Given the description of an element on the screen output the (x, y) to click on. 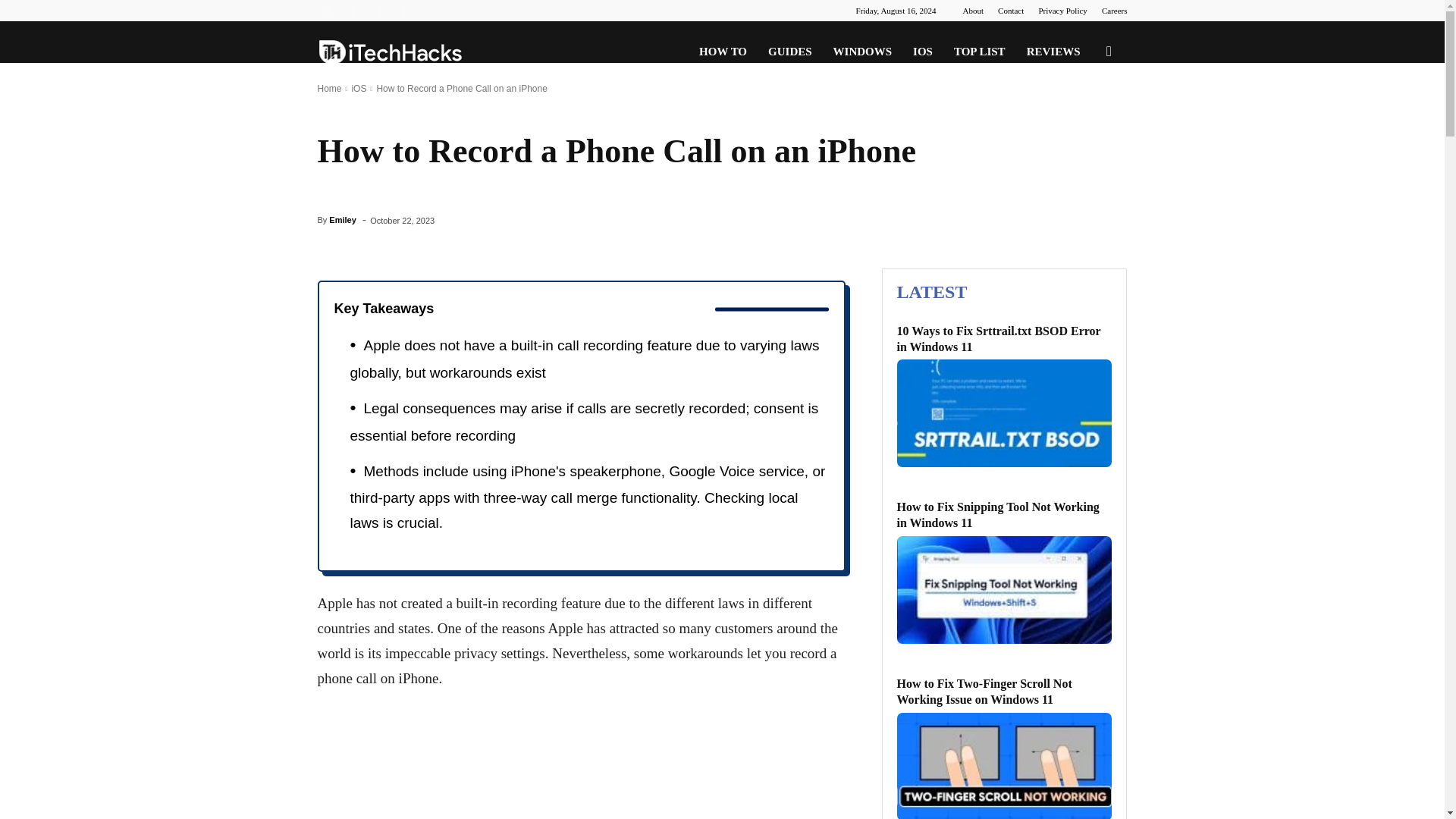
WINDOWS (862, 51)
REVIEWS (1053, 51)
About (973, 10)
GUIDES (789, 51)
Twitter (379, 10)
Emiley (342, 219)
iOS (358, 88)
Advertisement (579, 764)
Search (1085, 124)
TOP LIST (979, 51)
